Given the description of an element on the screen output the (x, y) to click on. 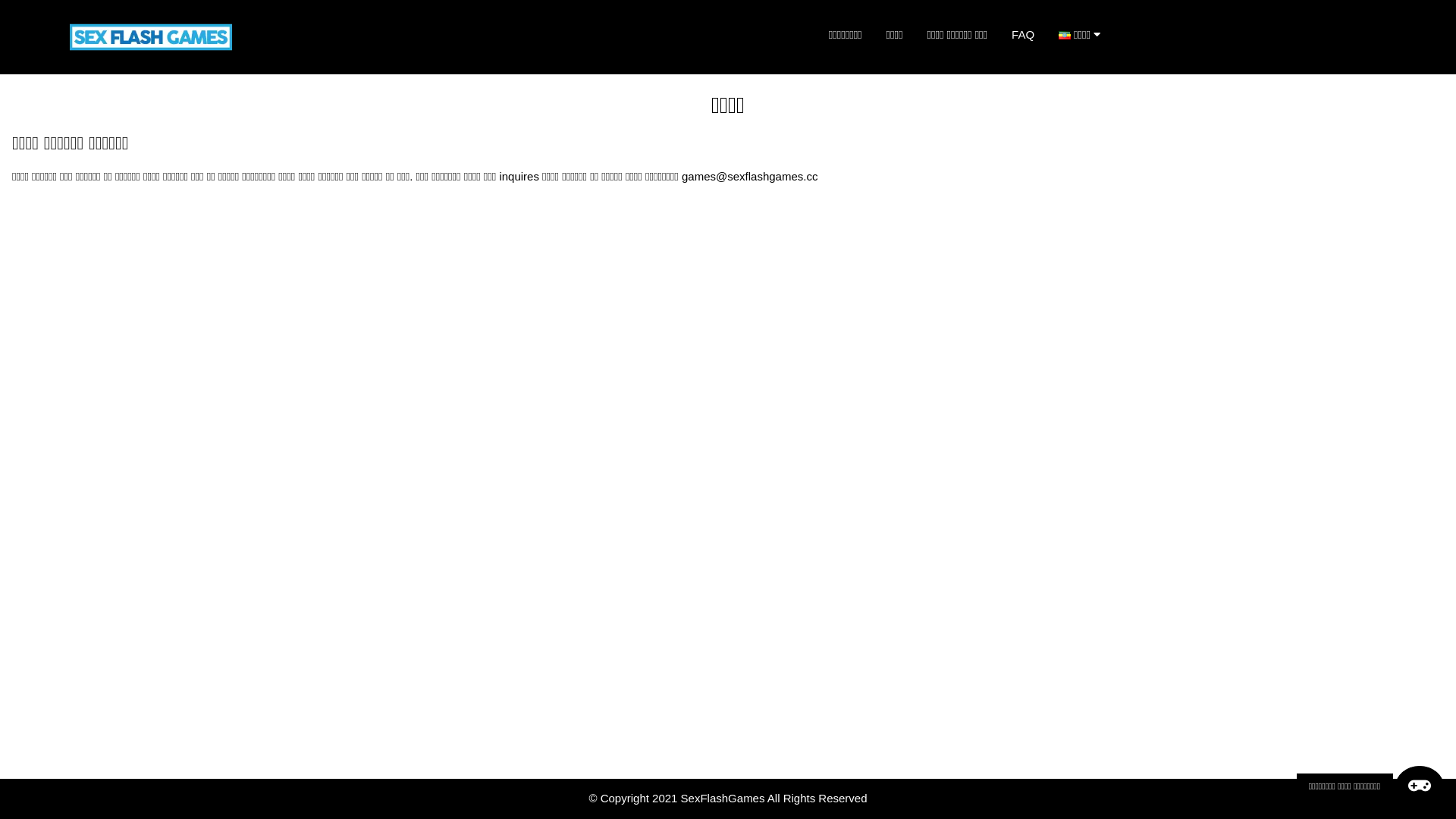
FAQ Element type: text (1022, 35)
